Given the description of an element on the screen output the (x, y) to click on. 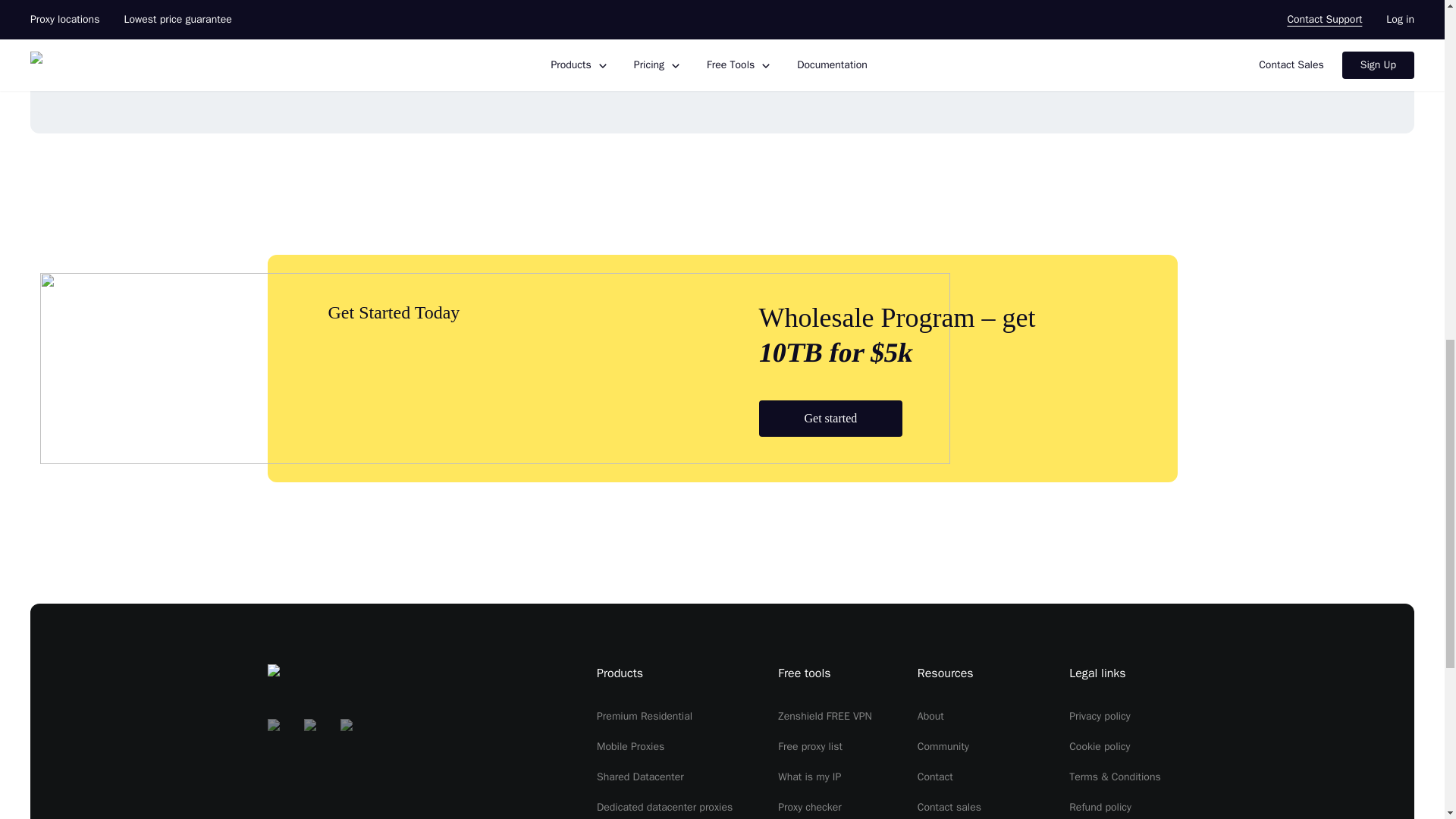
Community (943, 746)
About (930, 716)
Contact (935, 776)
Shared Datacenter (640, 776)
Zenshield FREE VPN (824, 716)
What is my IP (809, 776)
Mobile Proxies (629, 746)
Contact sales (949, 807)
Free proxy list (810, 746)
Privacy policy (1099, 716)
